Given the description of an element on the screen output the (x, y) to click on. 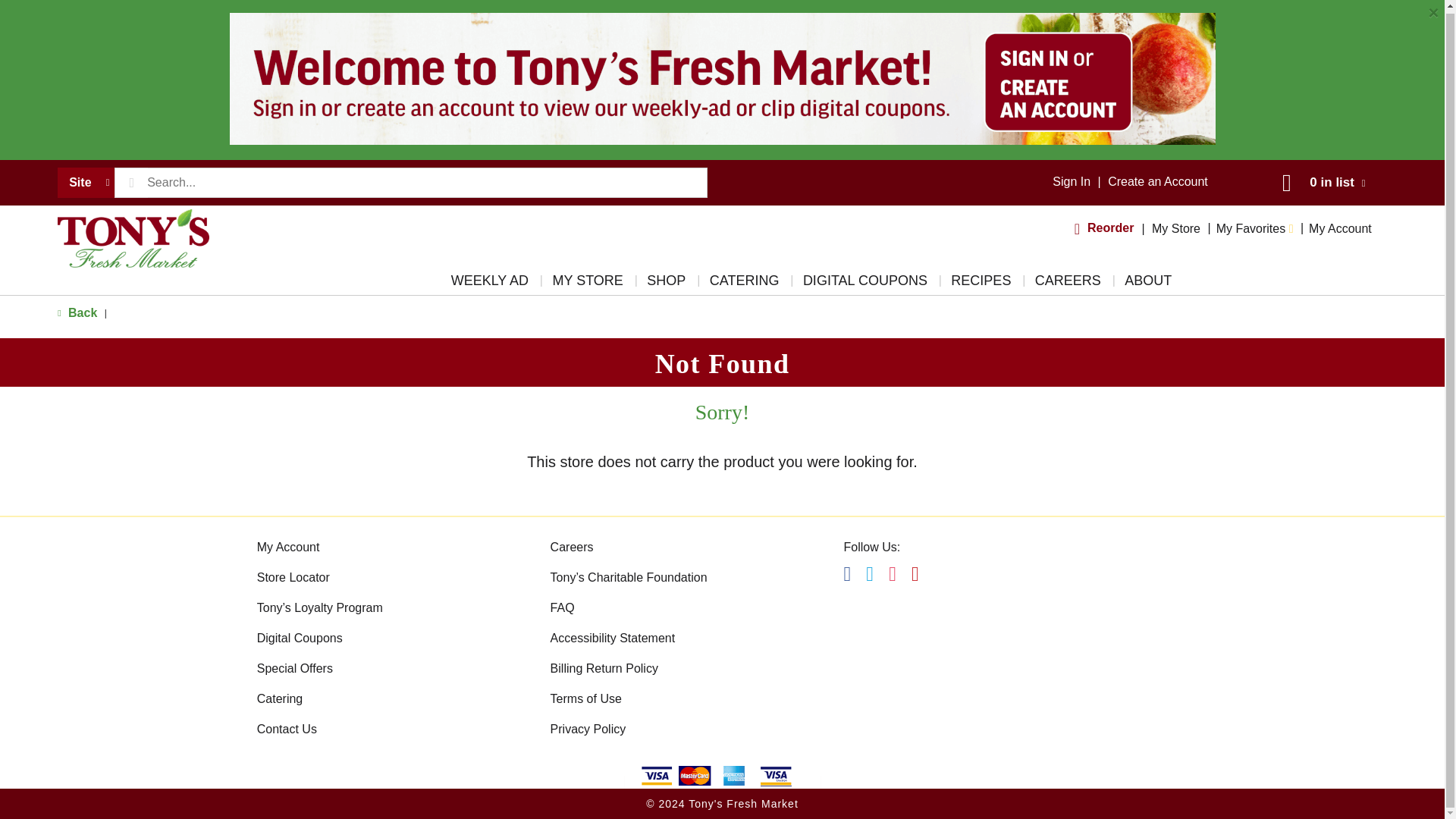
Reorder (1105, 227)
SHOP (665, 284)
0 in list (1320, 182)
Site (85, 182)
Reorder (1105, 227)
WEEKLY AD (489, 284)
RECIPES (981, 284)
My Account (1339, 228)
My Store (1175, 228)
Sign In (1071, 181)
My Favorites  (1254, 228)
CATERING (744, 284)
Create an Account (1158, 181)
MY STORE (587, 284)
DIGITAL COUPONS (864, 284)
